Given the description of an element on the screen output the (x, y) to click on. 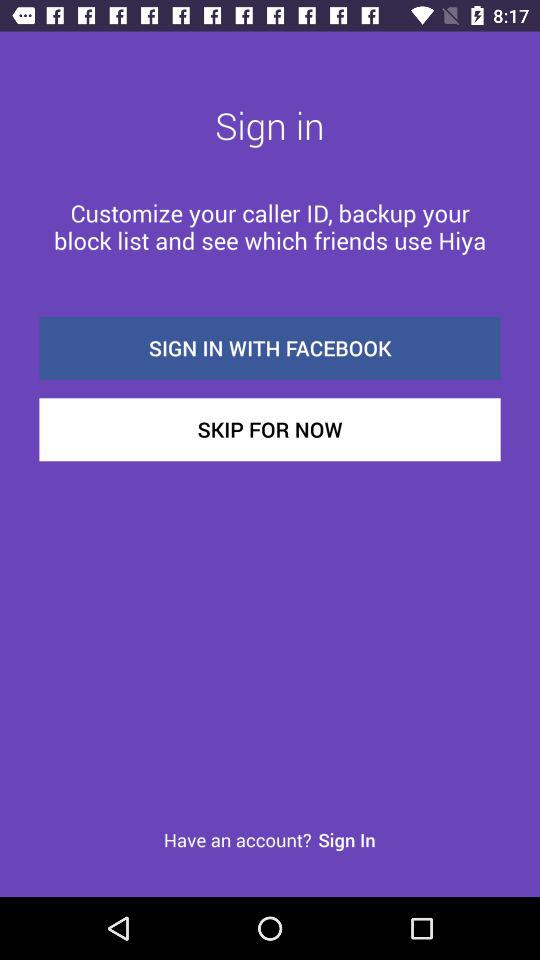
turn on icon above sign in with icon (269, 226)
